Given the description of an element on the screen output the (x, y) to click on. 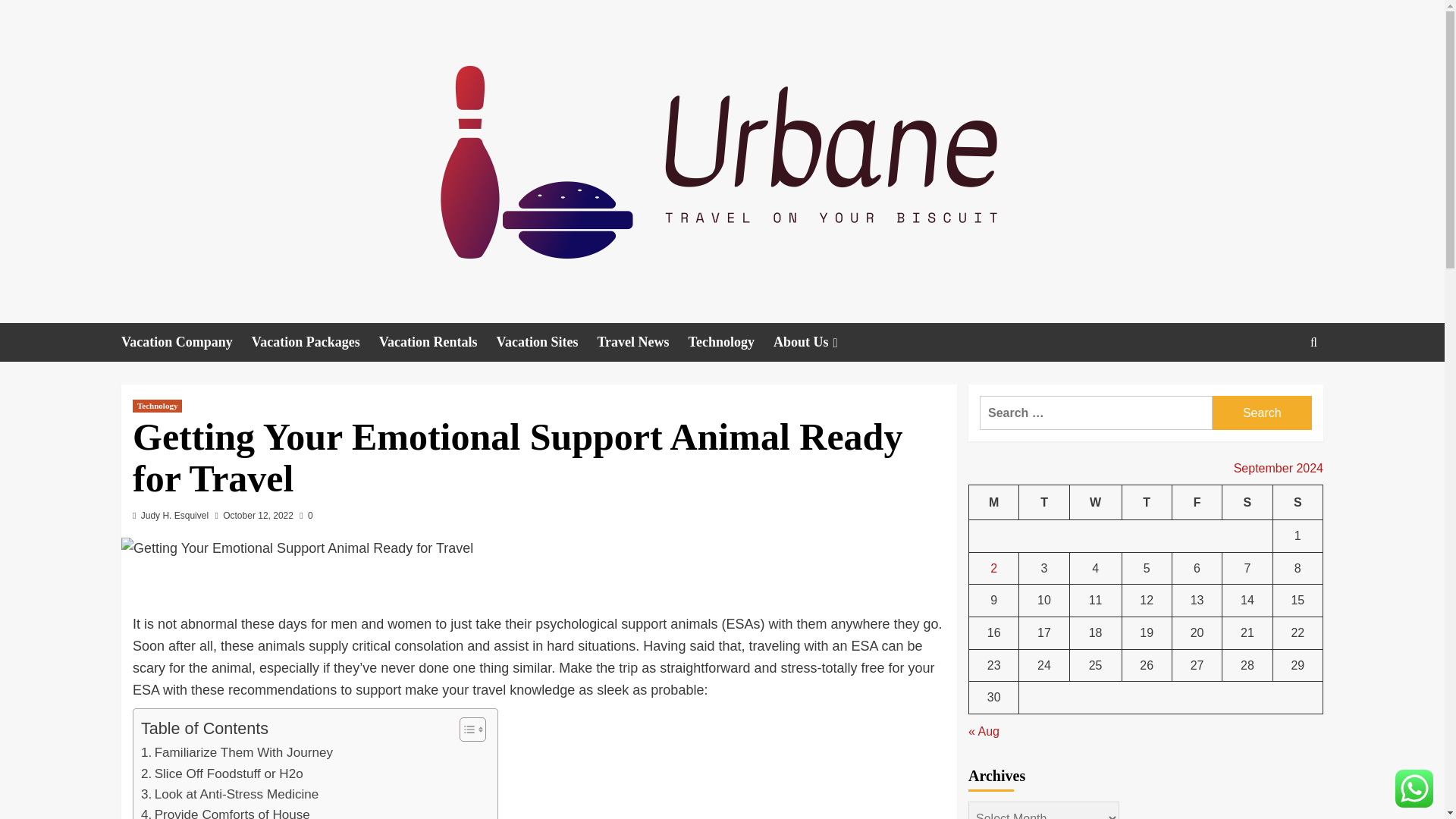
Search (1261, 412)
Thursday (1146, 502)
Familiarize Them With Journey (237, 752)
Judy H. Esquivel (174, 515)
Slice Off Foodstuff or H2o (221, 773)
Slice Off Foodstuff or H2o (221, 773)
Technology (730, 341)
Vacation Sites (546, 341)
Wednesday (1094, 502)
Travel News (641, 341)
